Given the description of an element on the screen output the (x, y) to click on. 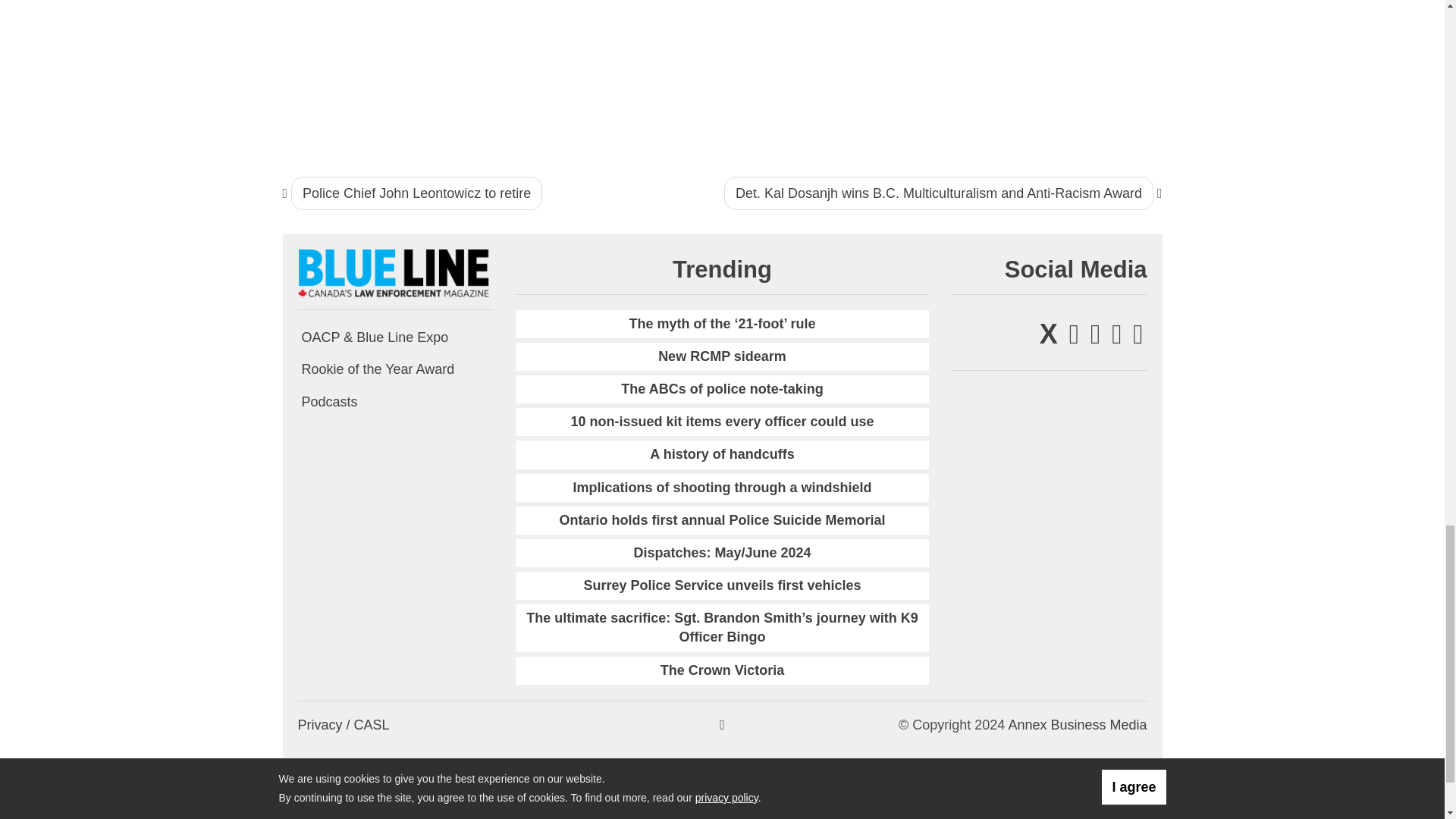
Annex Business Media (1077, 724)
3rd party ad content (1060, 72)
Blue Line (395, 272)
